Given the description of an element on the screen output the (x, y) to click on. 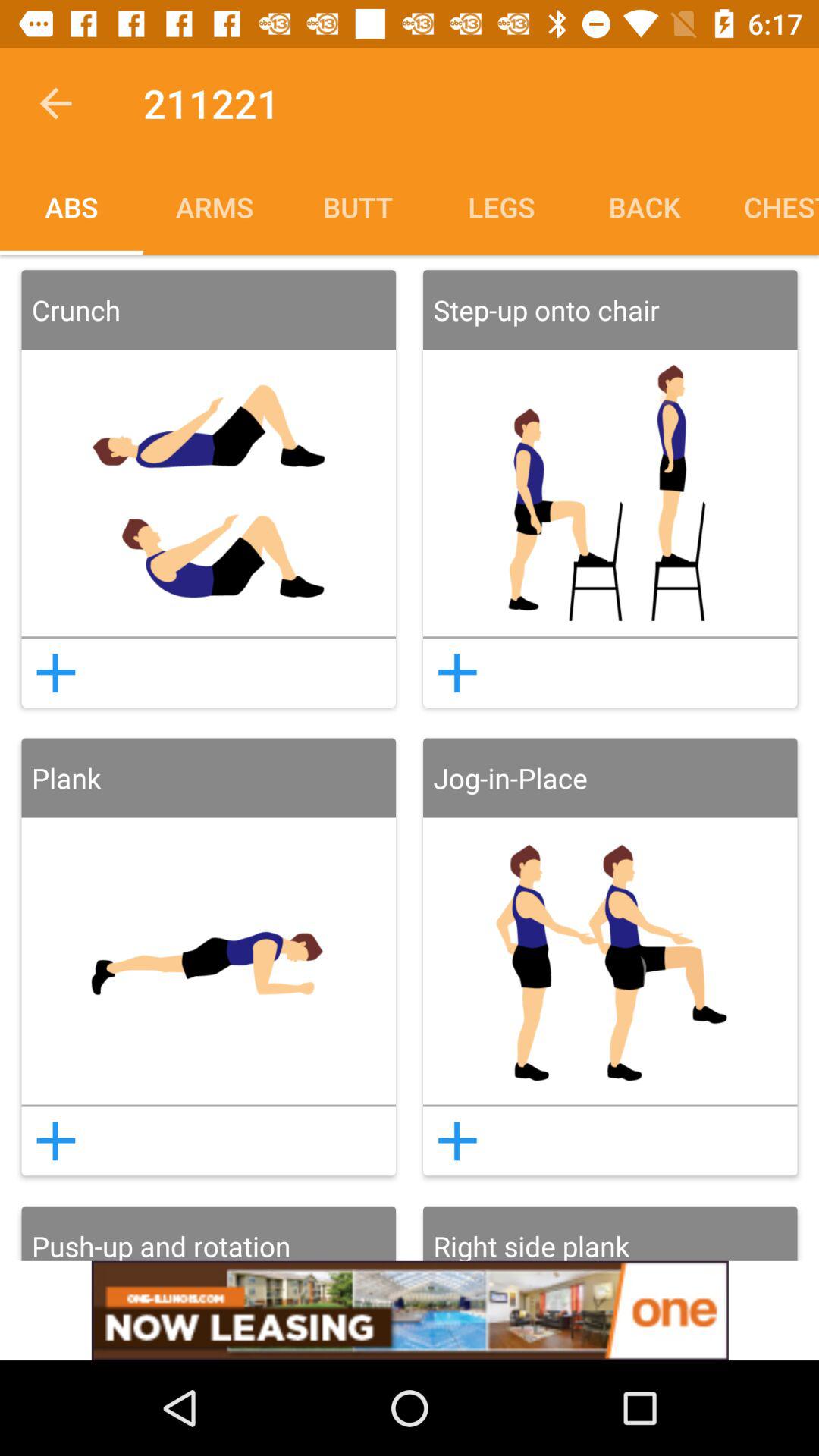
add the option (409, 1310)
